Given the description of an element on the screen output the (x, y) to click on. 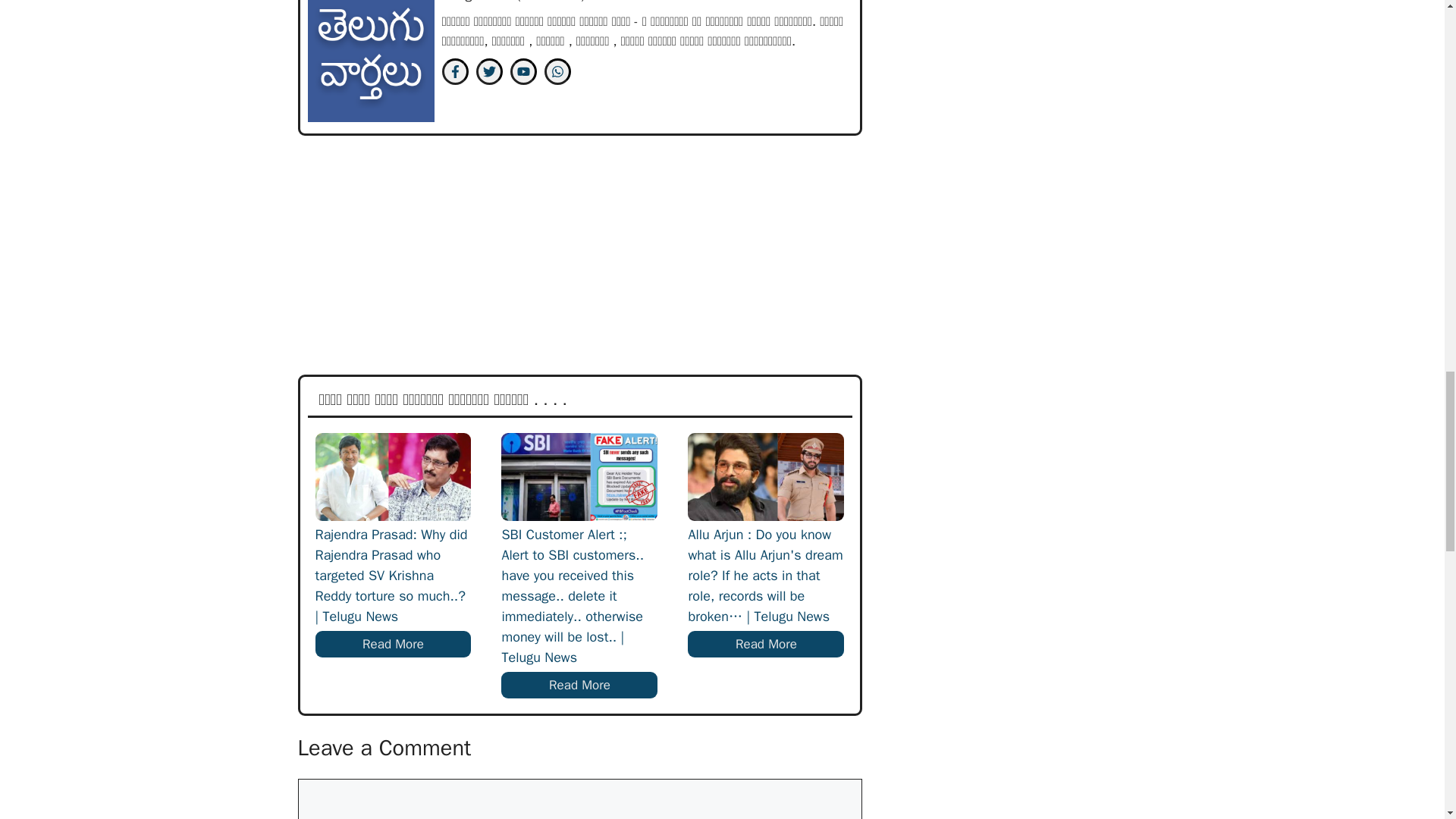
Read More (765, 644)
unnamed (370, 61)
Read More (579, 685)
Advertisement (600, 260)
Read More (393, 644)
